Given the description of an element on the screen output the (x, y) to click on. 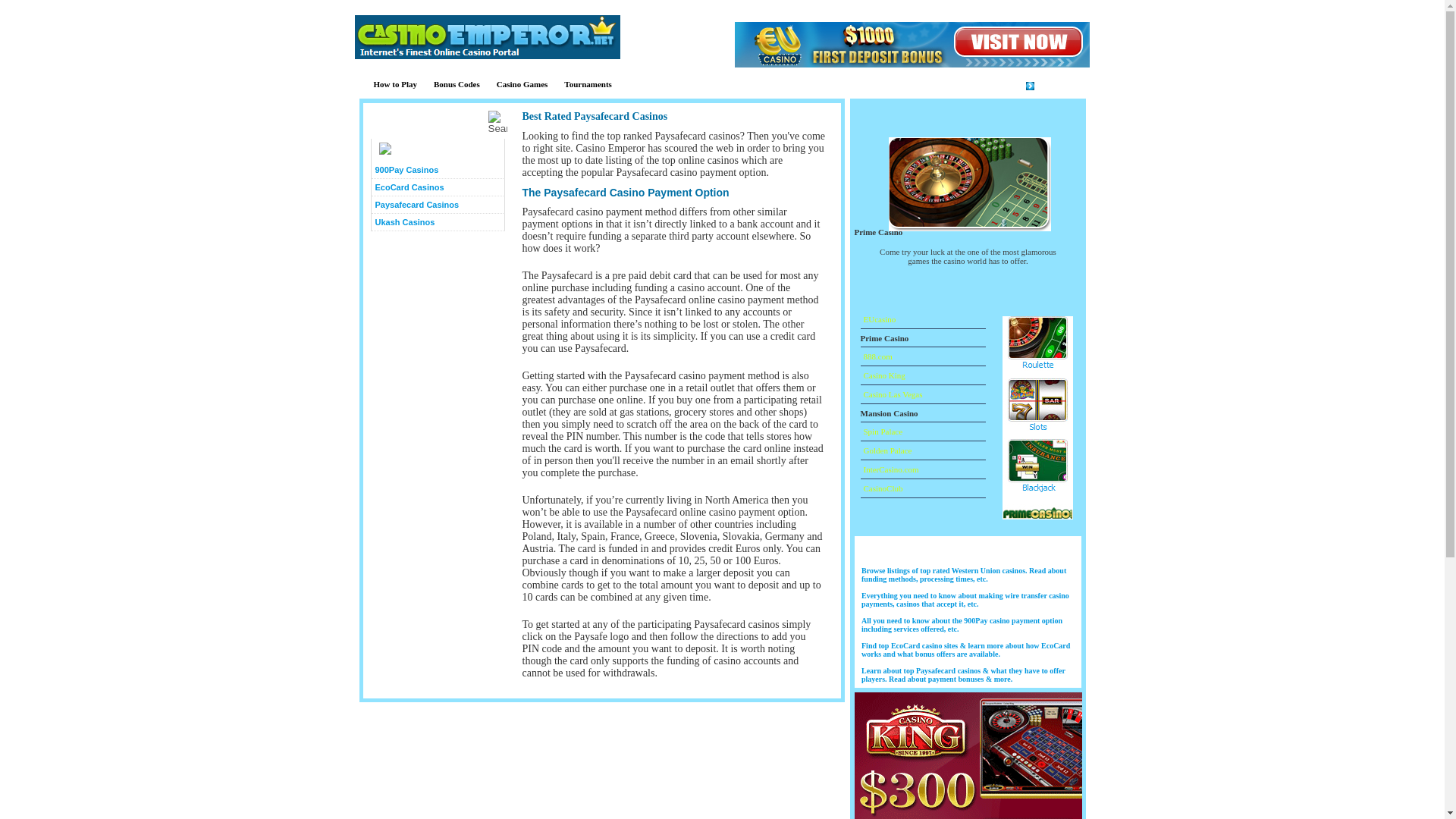
Bookmark (1049, 85)
Tournaments (588, 84)
EUcasino (877, 317)
900Pay Casinos (437, 170)
Casino King (882, 374)
InterCasino.com (889, 468)
Game Search (429, 120)
Casino Las Vegas (890, 393)
Casino Games (522, 84)
Game Search (429, 120)
